Given the description of an element on the screen output the (x, y) to click on. 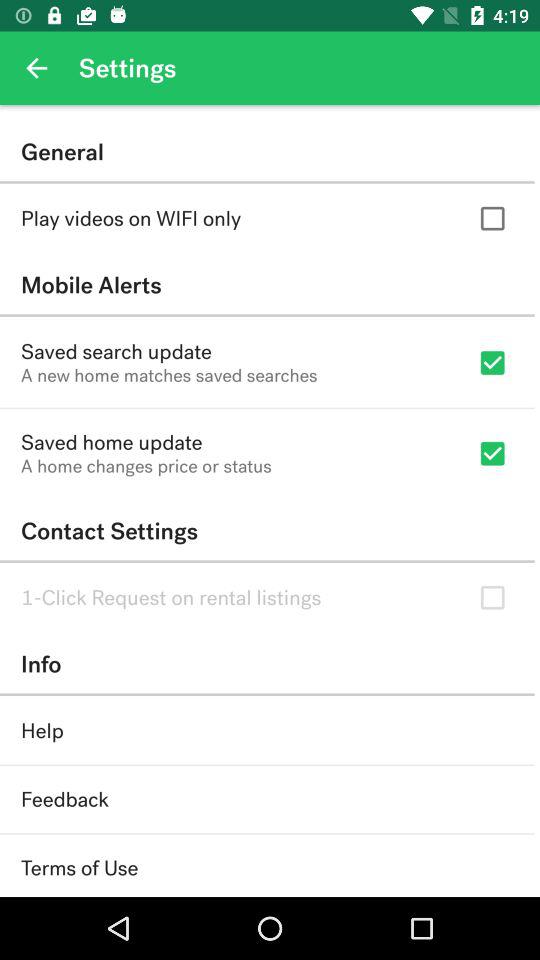
turn off item below contact settings (171, 597)
